Given the description of an element on the screen output the (x, y) to click on. 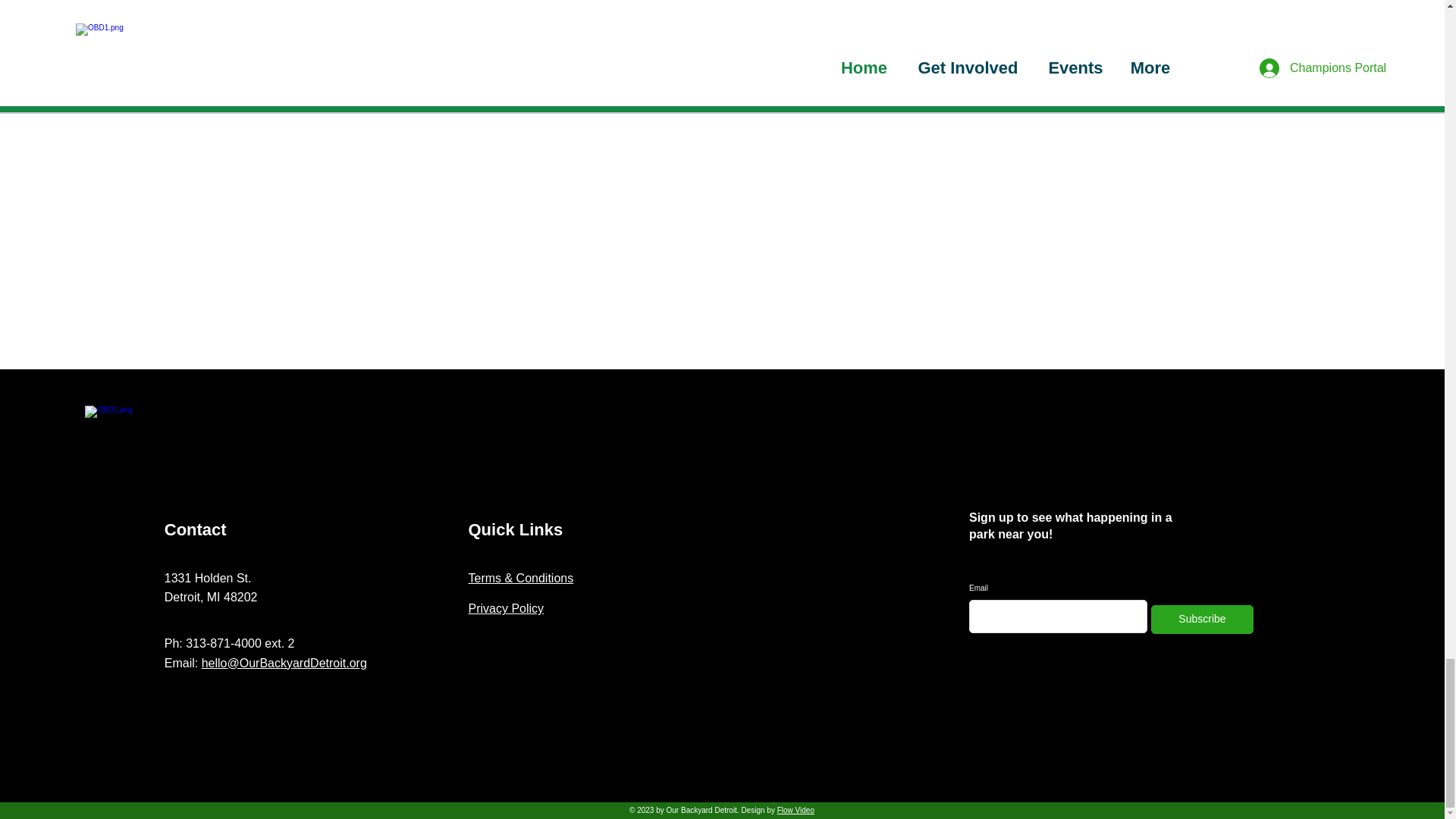
Flow Video (795, 809)
Privacy Policy (506, 608)
Subscribe (1202, 619)
